Given the description of an element on the screen output the (x, y) to click on. 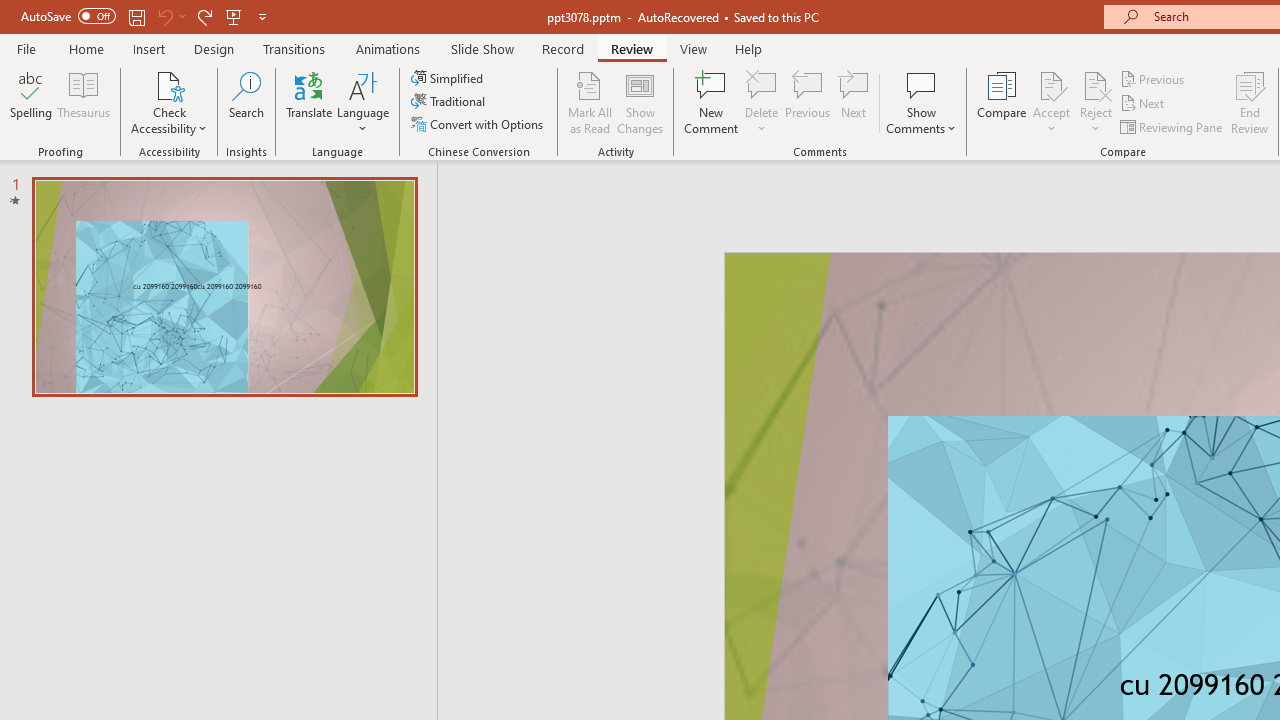
Previous (1153, 78)
Convert with Options... (479, 124)
Reject Change (1096, 84)
Language (363, 102)
Next (1144, 103)
